Given the description of an element on the screen output the (x, y) to click on. 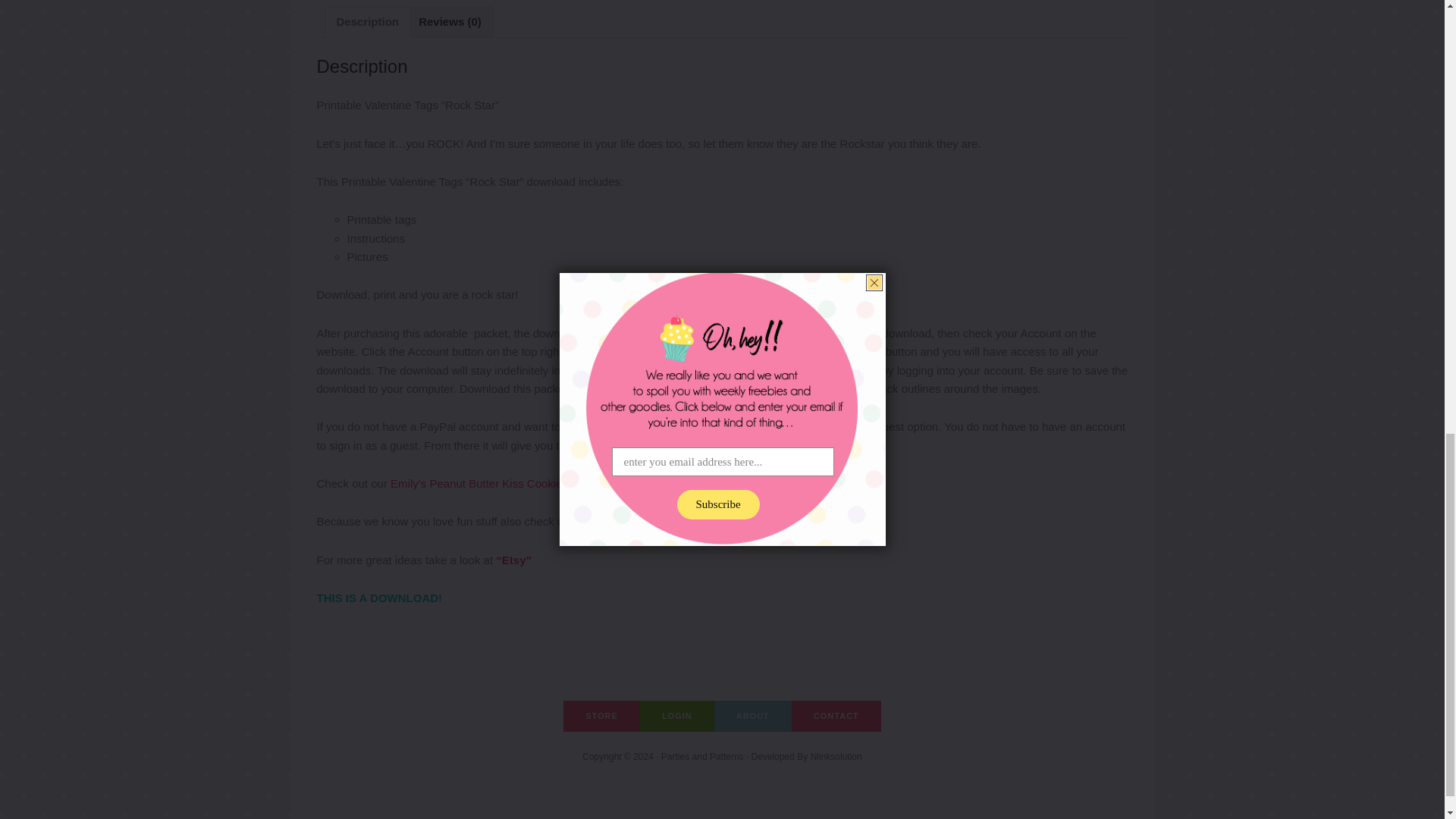
Nlinksolution (835, 756)
